Given the description of an element on the screen output the (x, y) to click on. 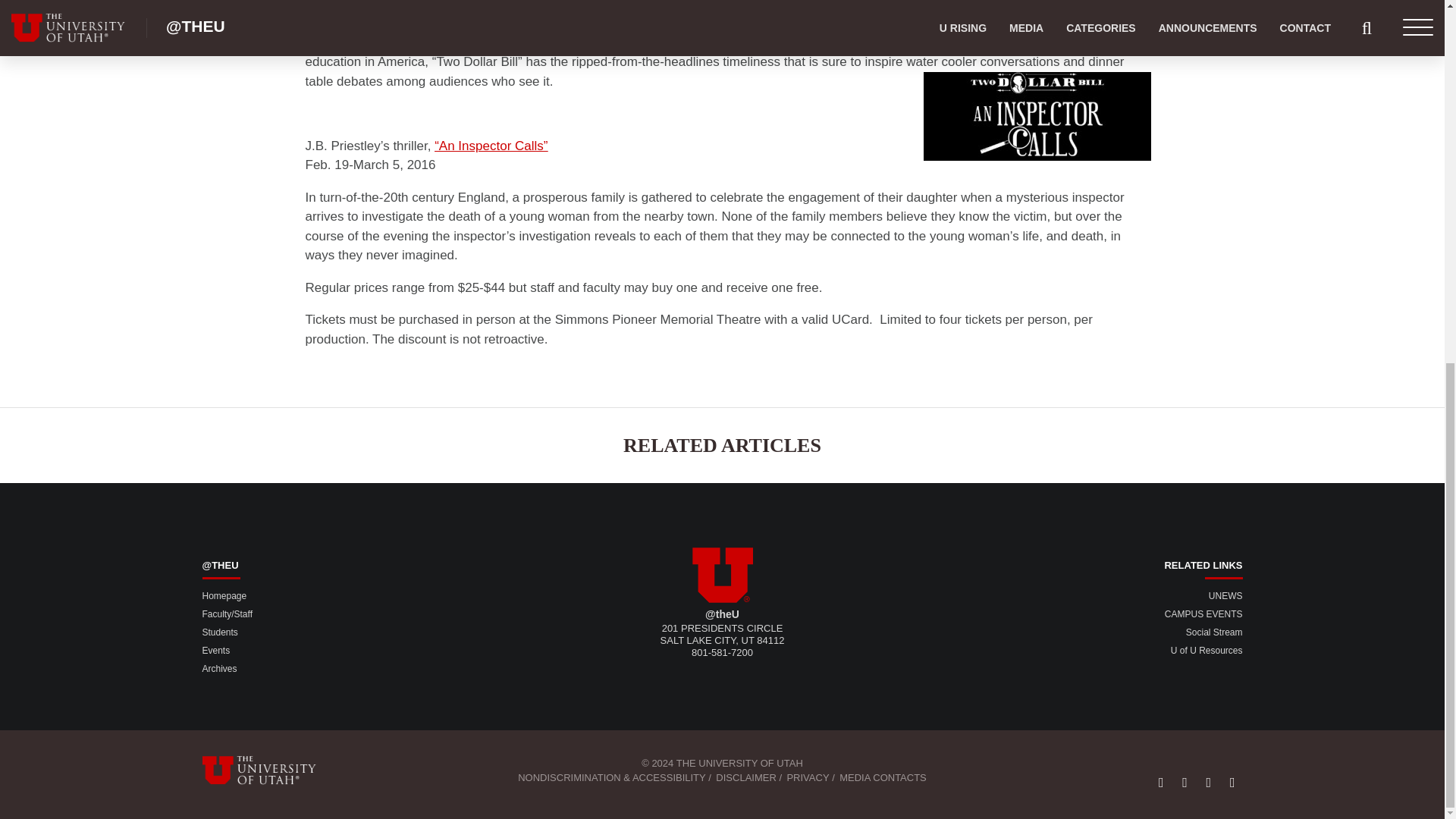
University of Utah (269, 769)
University of Utah (721, 574)
